Given the description of an element on the screen output the (x, y) to click on. 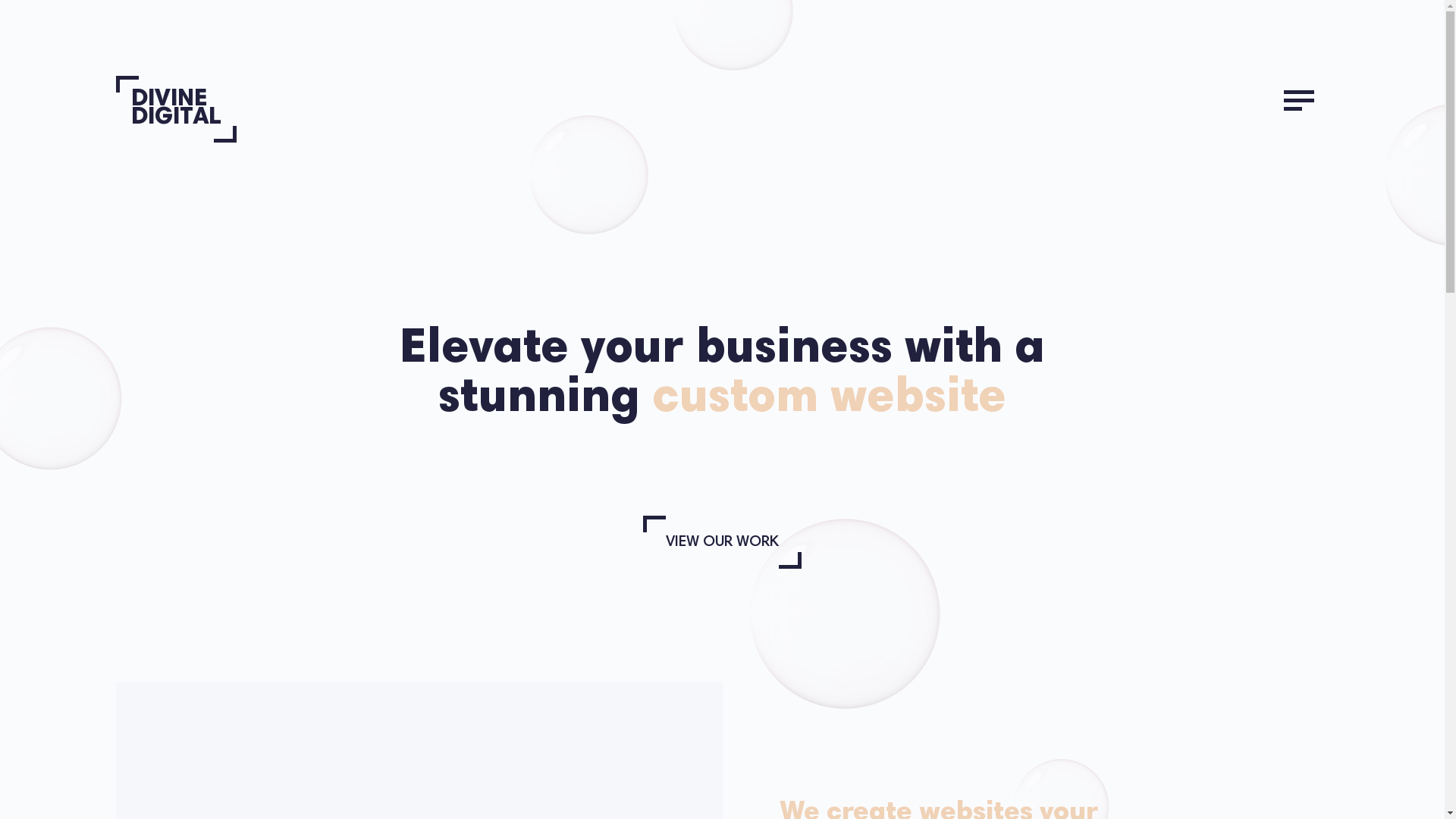
DIVINE
DIGITAL Element type: text (167, 120)
VIEW OUR WORK Element type: text (722, 541)
